Given the description of an element on the screen output the (x, y) to click on. 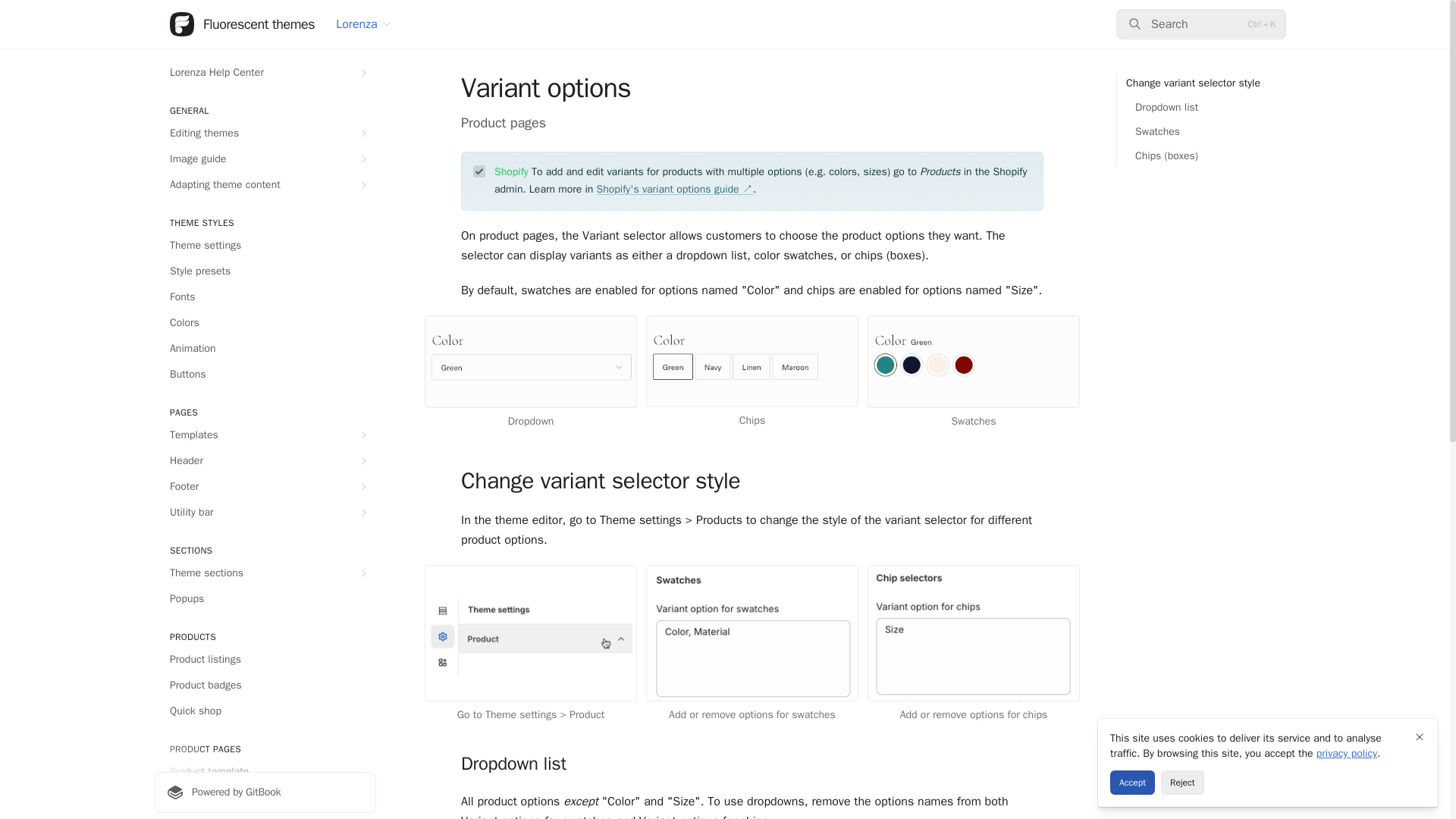
Fluorescent themes (242, 24)
Colors (264, 322)
Style presets (264, 271)
Lorenza Help Center (264, 72)
Theme settings (264, 245)
Fonts (264, 297)
Close (1419, 737)
Image guide (264, 159)
Editing themes (264, 133)
Adapting theme content (264, 184)
